Given the description of an element on the screen output the (x, y) to click on. 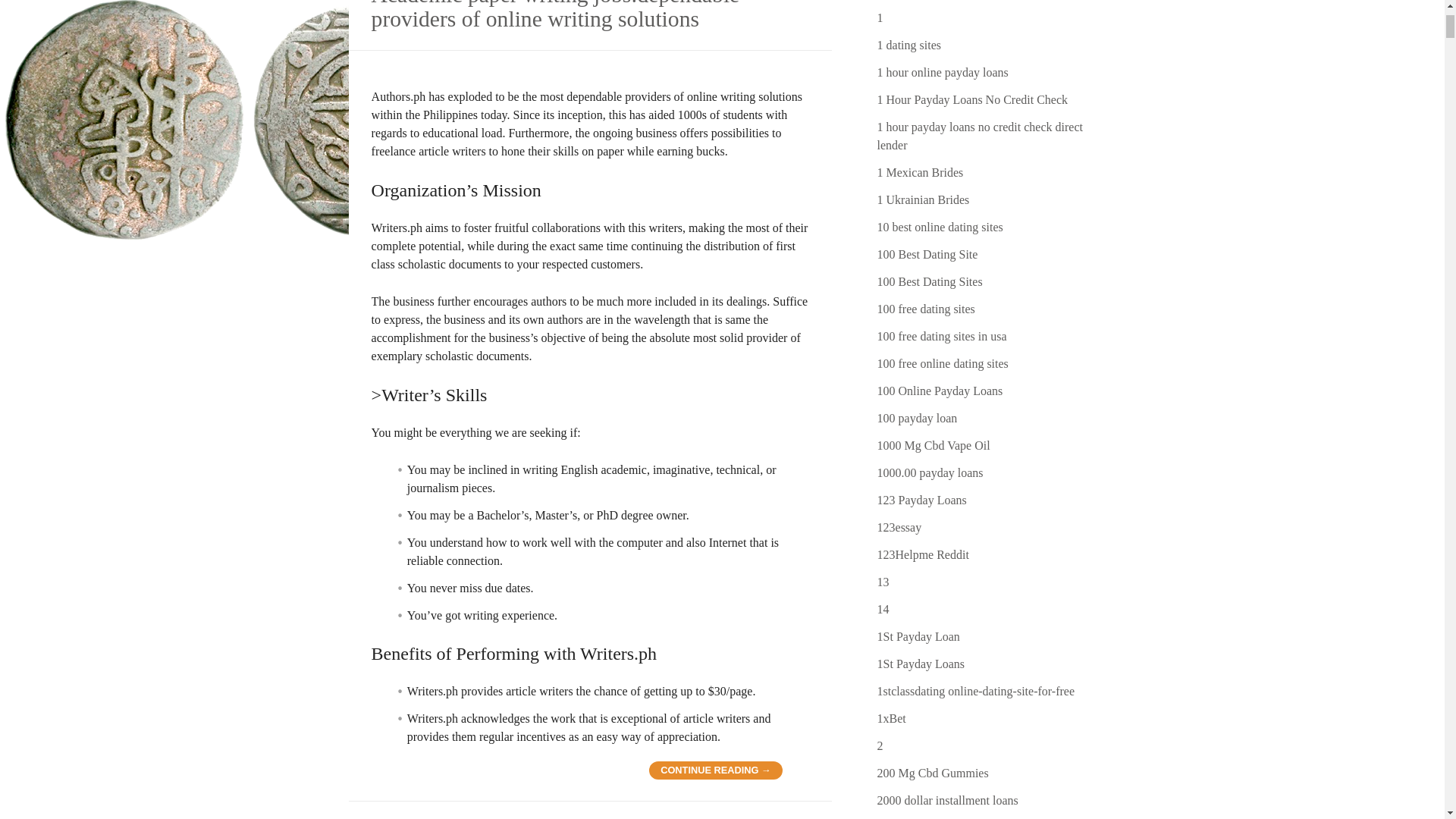
1 Hour Payday Loans No Credit Check (972, 99)
1 hour online payday loans (943, 72)
1 dating sites (908, 44)
